Given the description of an element on the screen output the (x, y) to click on. 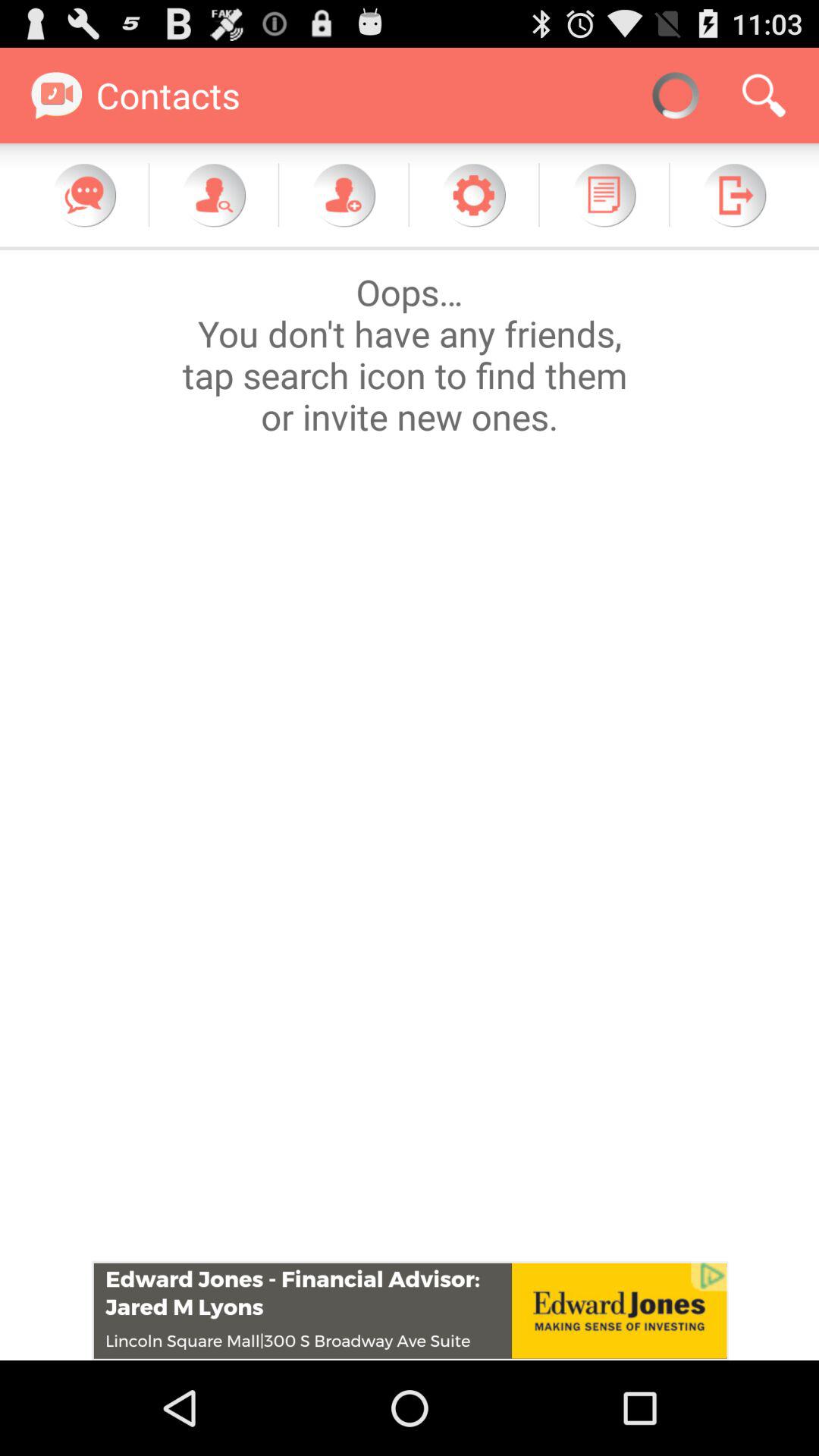
edward jones financial advisor advertisement (409, 1310)
